Given the description of an element on the screen output the (x, y) to click on. 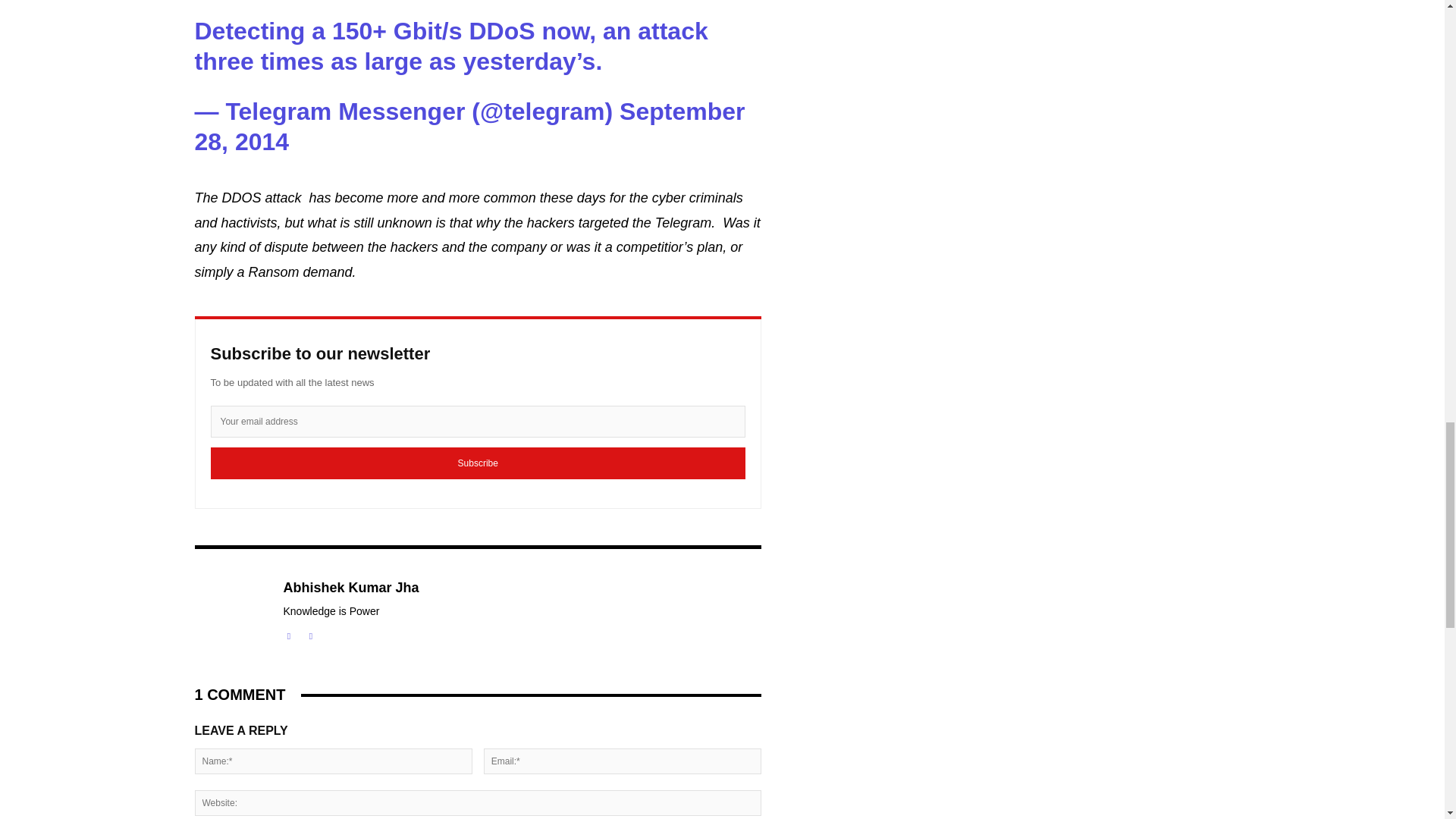
Twitter (309, 633)
Linkedin (289, 633)
Abhishek Kumar Jha (229, 610)
September 28, 2014 (468, 126)
Abhishek Kumar Jha (351, 588)
Subscribe (478, 463)
